Given the description of an element on the screen output the (x, y) to click on. 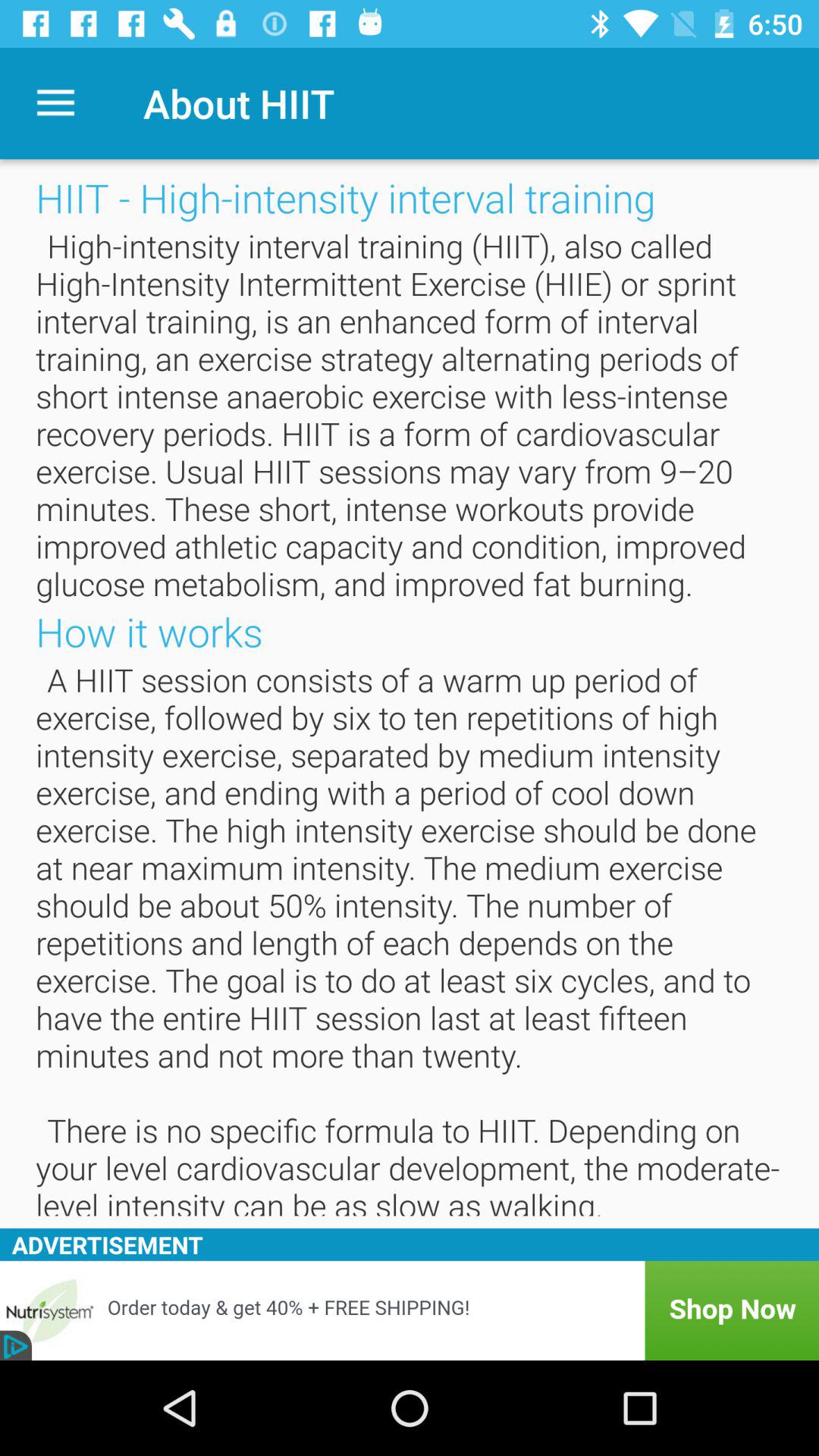
click the app next to the about hiit item (55, 103)
